Given the description of an element on the screen output the (x, y) to click on. 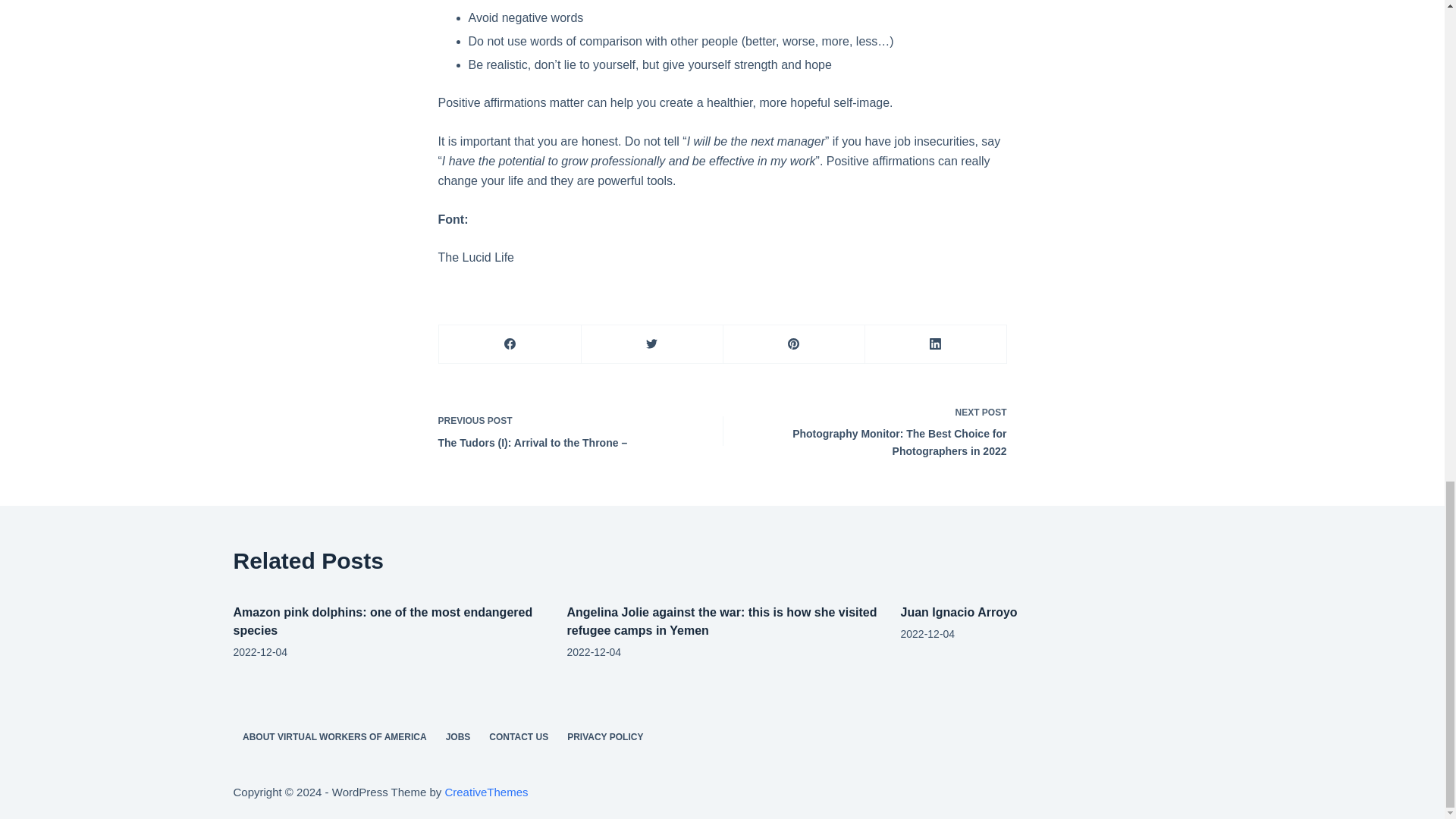
Juan Ignacio Arroyo (959, 612)
CONTACT US (518, 737)
PRIVACY POLICY (604, 737)
JOBS (457, 737)
Amazon pink dolphins: one of the most endangered species (382, 621)
CreativeThemes (485, 791)
ABOUT VIRTUAL WORKERS OF AMERICA (334, 737)
